Given the description of an element on the screen output the (x, y) to click on. 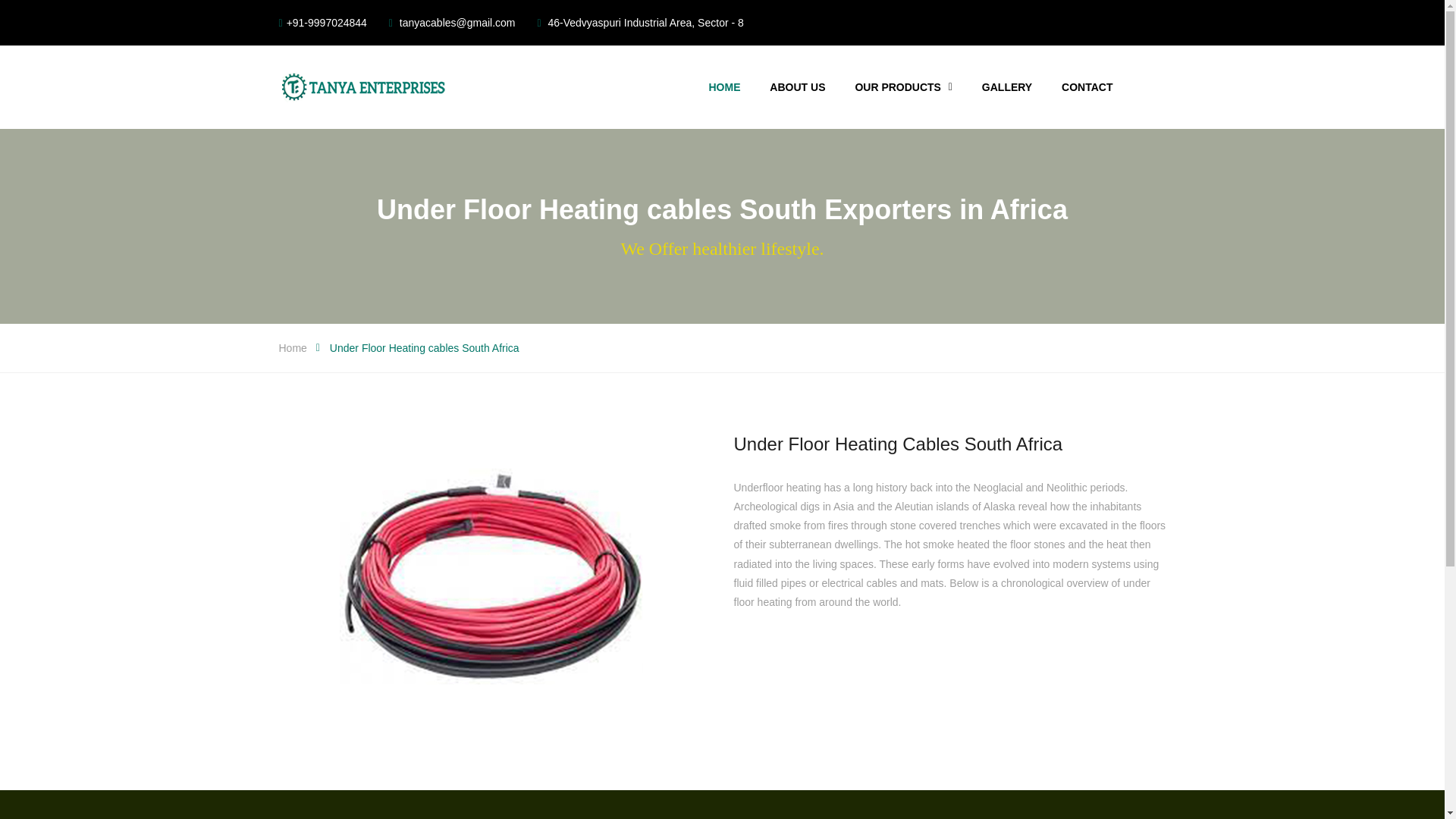
GALLERY (1006, 87)
HOME (723, 87)
CONTACT (1086, 87)
ABOUT US (797, 87)
OUR PRODUCTS (903, 87)
Home (293, 347)
